Given the description of an element on the screen output the (x, y) to click on. 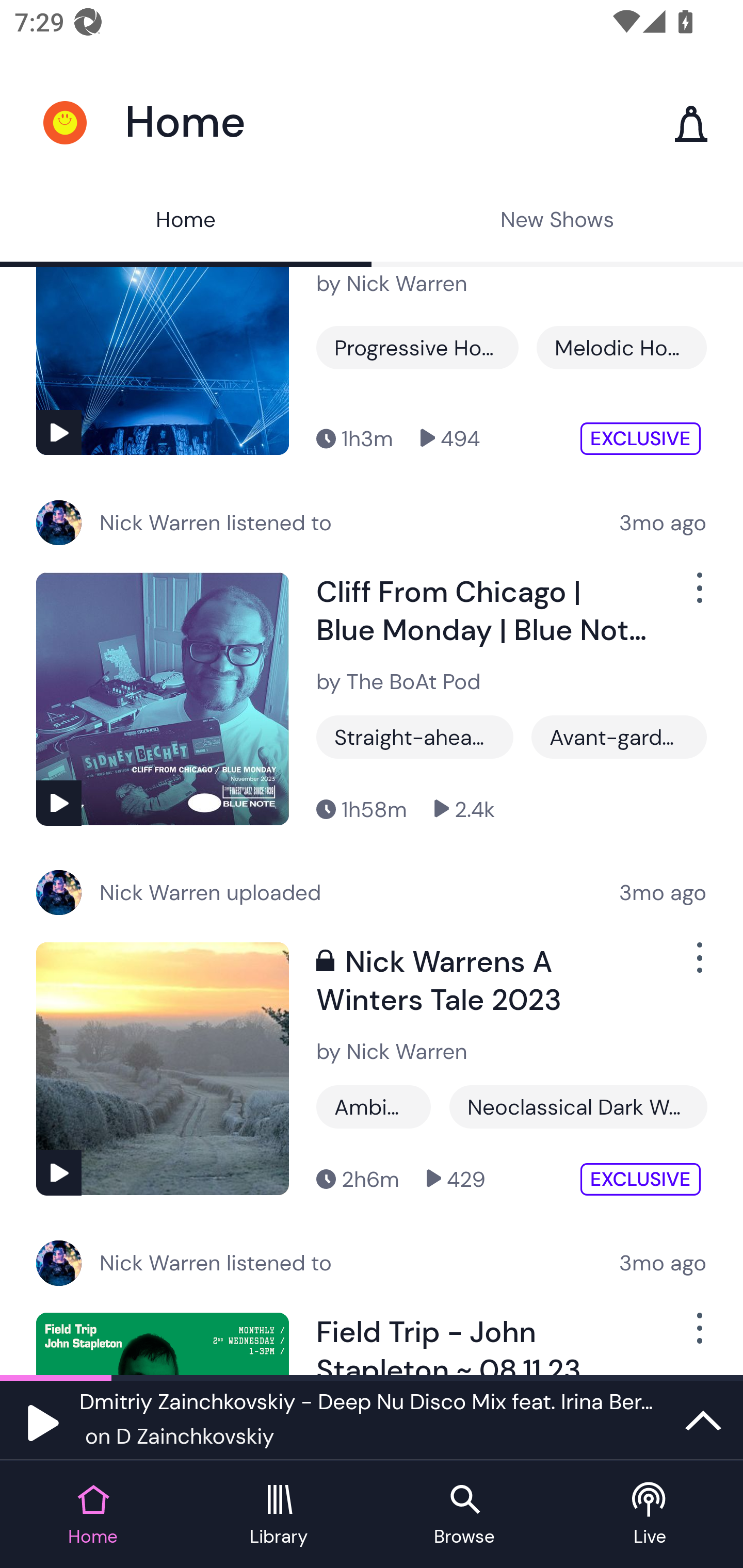
Home (185, 221)
New Shows (557, 221)
Progressive House (417, 348)
Melodic House (621, 348)
Show Options Menu Button (697, 595)
Straight-ahead Jazz (414, 736)
Avant-garde Jazz (618, 736)
Show Options Menu Button (697, 965)
Ambient (373, 1106)
Neoclassical Dark Wave (577, 1106)
Show Options Menu Button (697, 1335)
Home tab Home (92, 1515)
Library tab Library (278, 1515)
Browse tab Browse (464, 1515)
Live tab Live (650, 1515)
